Given the description of an element on the screen output the (x, y) to click on. 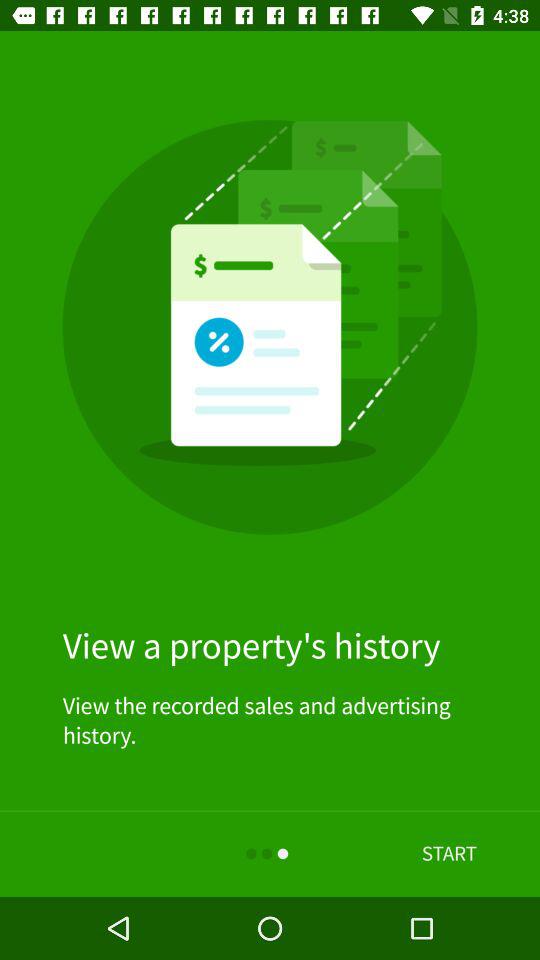
press item below view the recorded item (449, 853)
